Given the description of an element on the screen output the (x, y) to click on. 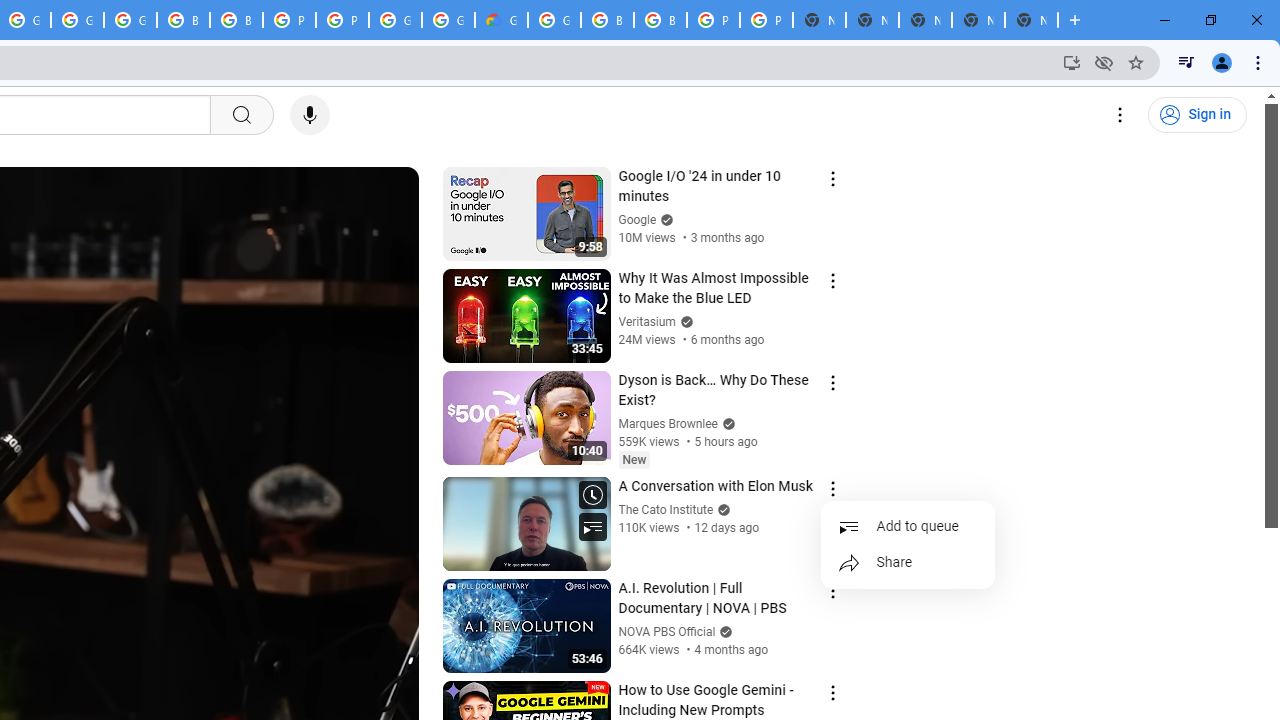
Verified (724, 631)
Share (907, 563)
Add to queue (907, 527)
Google Cloud Platform (448, 20)
Add to queue (907, 527)
Google Cloud Platform (395, 20)
Browse Chrome as a guest - Computer - Google Chrome Help (235, 20)
Control your music, videos, and more (1185, 62)
Share (907, 563)
